Given the description of an element on the screen output the (x, y) to click on. 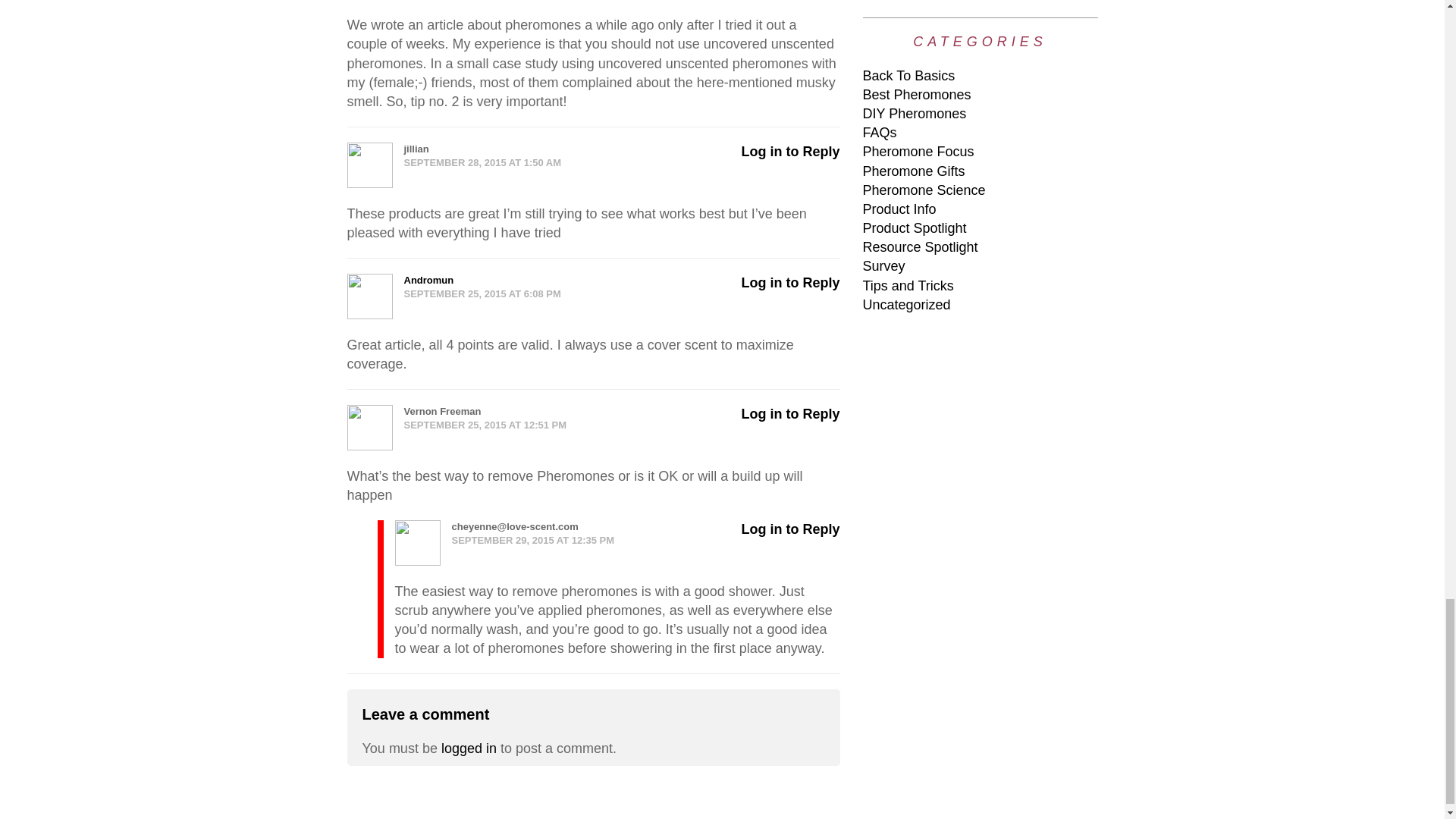
SEPTEMBER 28, 2015 AT 1:50 AM (593, 162)
SEPTEMBER 25, 2015 AT 6:08 PM (593, 294)
Log in to Reply (790, 413)
Log in to Reply (790, 151)
SEPTEMBER 29, 2015 AT 12:35 PM (617, 540)
Log in to Reply (790, 282)
logged in (468, 748)
Andromun (427, 279)
Log in to Reply (790, 529)
SEPTEMBER 25, 2015 AT 12:51 PM (593, 425)
